Given the description of an element on the screen output the (x, y) to click on. 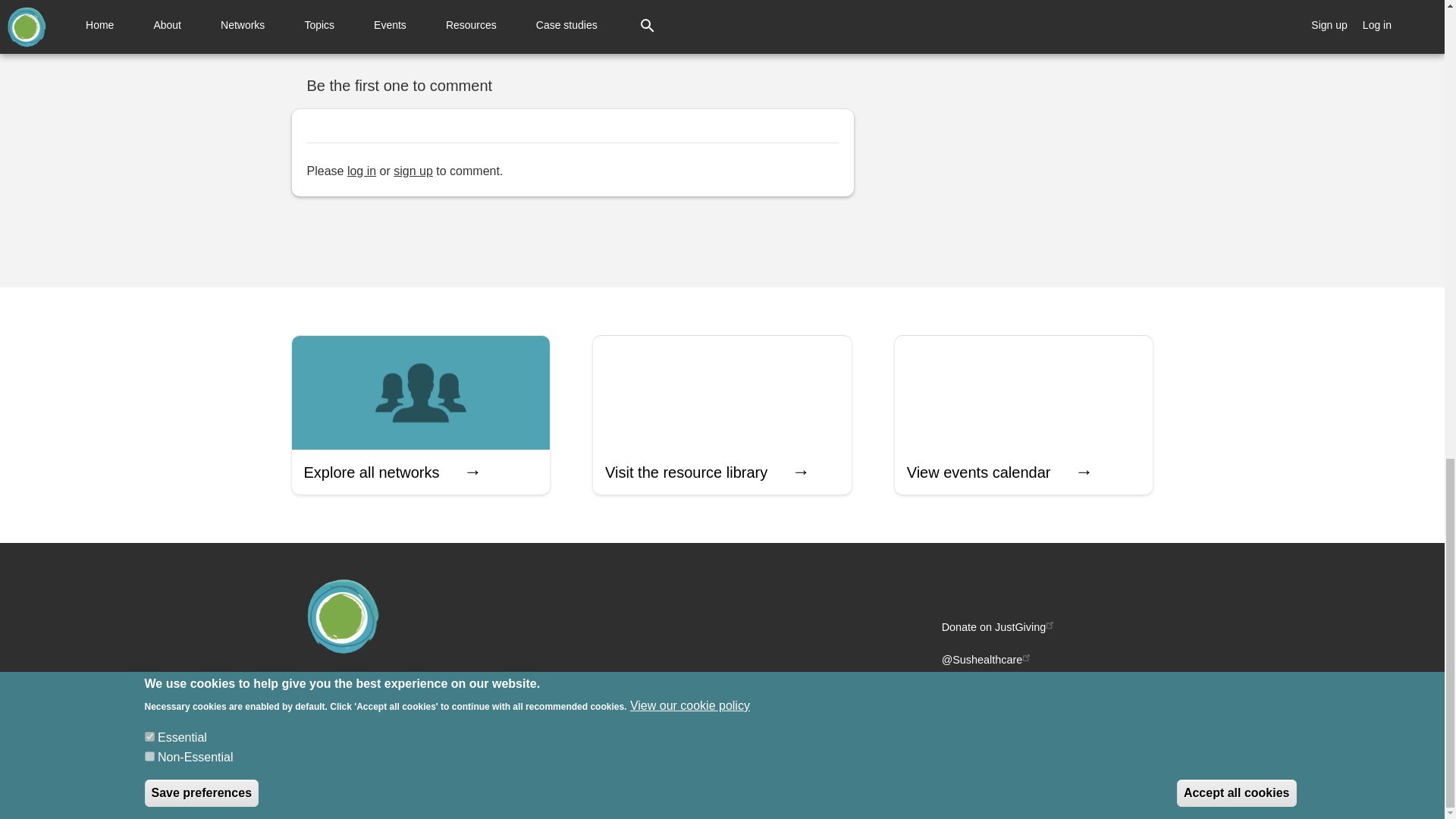
Visit the resource library (721, 414)
sign up (412, 170)
Explore all networks (420, 414)
Centre for Sustainable Healthcare (402, 686)
log in (361, 170)
View events calendar (1024, 414)
